Given the description of an element on the screen output the (x, y) to click on. 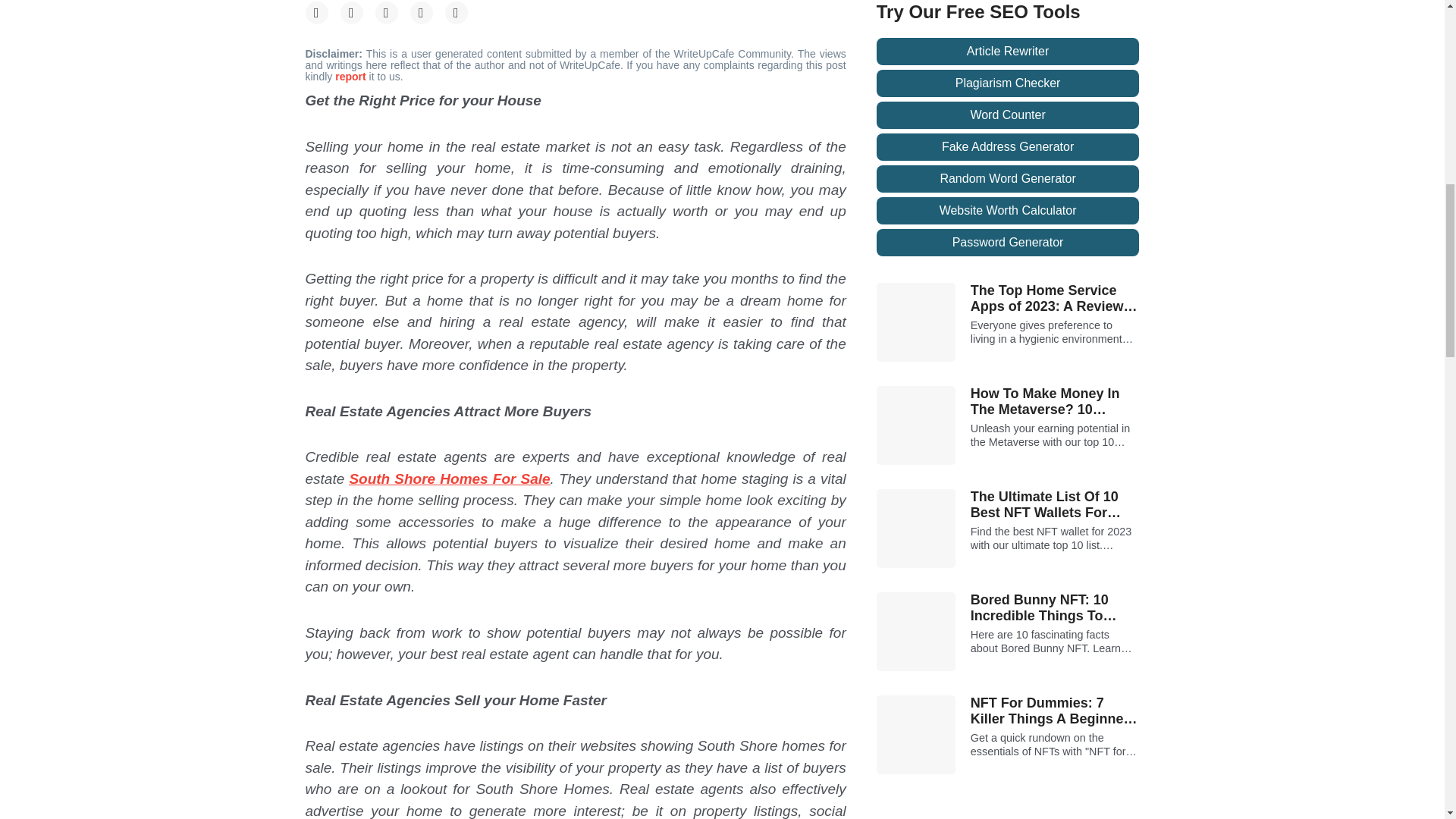
Website Worth Calculator (1008, 210)
Word Counter (1008, 114)
Password Generator (1008, 242)
South Shore Homes For Sale (449, 478)
report (351, 76)
The Top Home Service Apps of 2023: A Review and Comparison (1055, 298)
Article Rewriter (1008, 51)
Fake Address Generator (1008, 146)
Plagiarism Checker (1008, 83)
Random Word Generator (1008, 178)
